Given the description of an element on the screen output the (x, y) to click on. 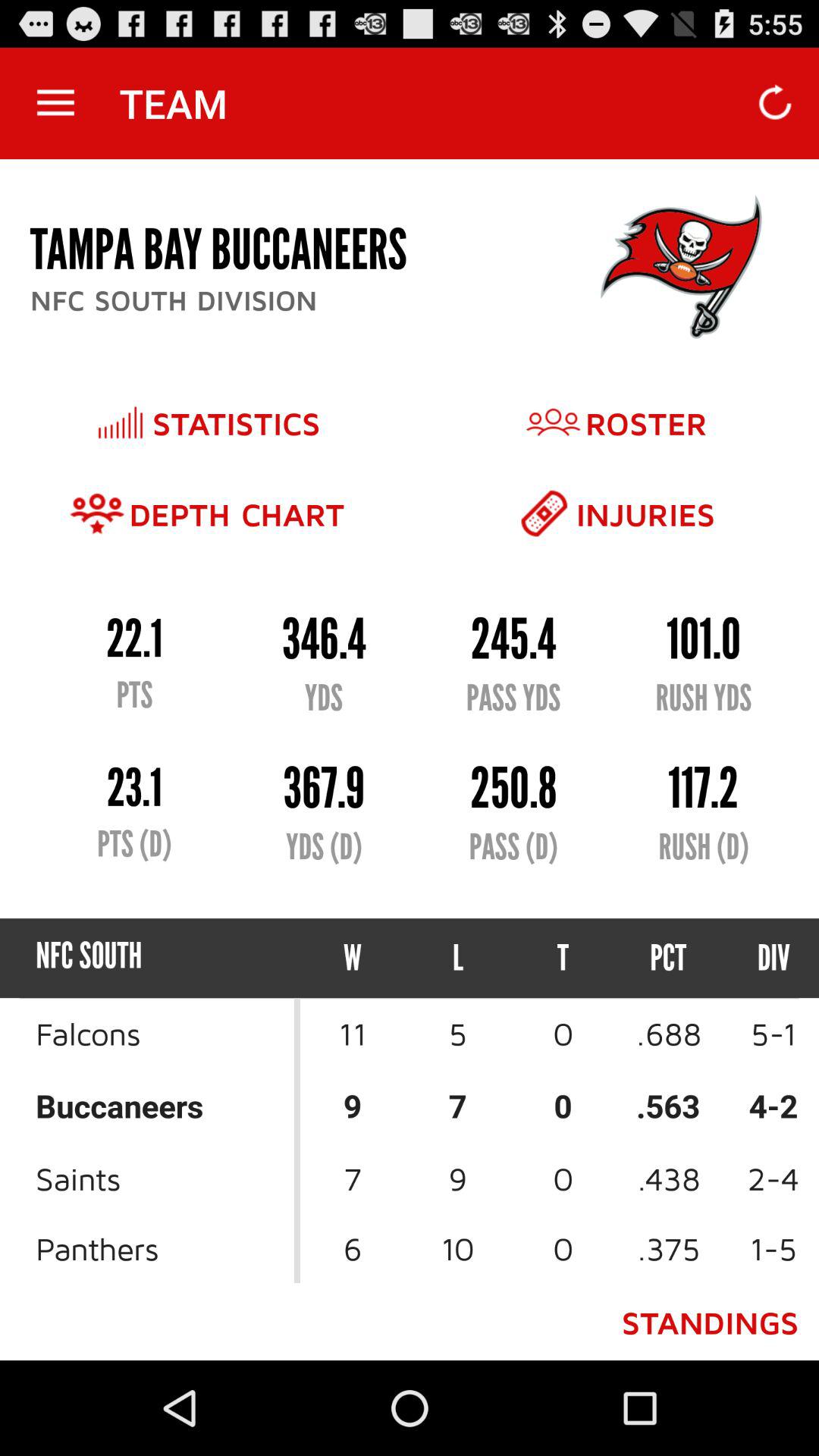
turn off icon to the right of the t (668, 958)
